Given the description of an element on the screen output the (x, y) to click on. 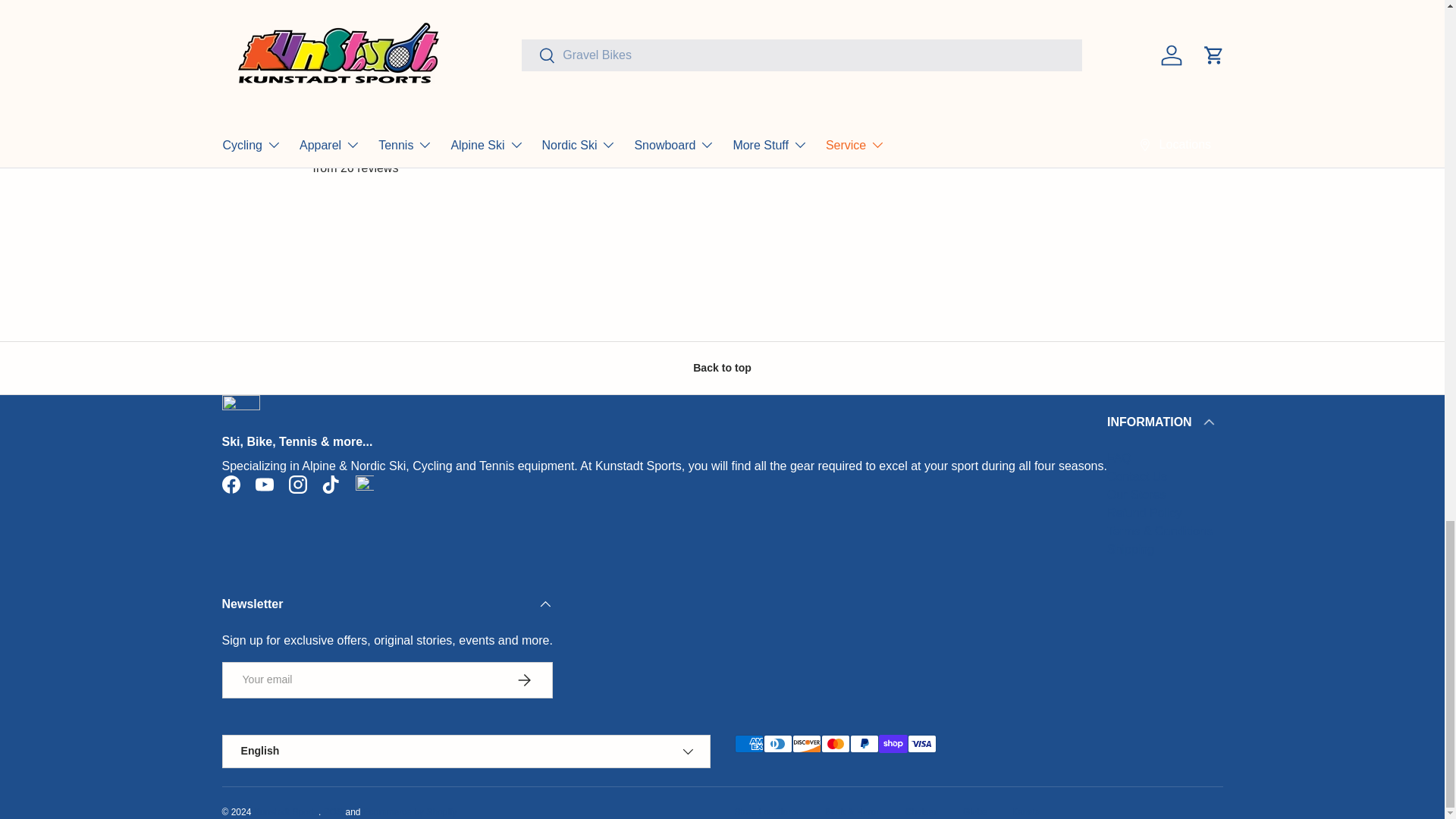
Kunstadt Sports on YouTube (264, 484)
Kunstadt Sports on TikTok (330, 484)
Kunstadt Sports on Facebook (230, 484)
Kunstadt Sports on Instagram (297, 484)
